Given the description of an element on the screen output the (x, y) to click on. 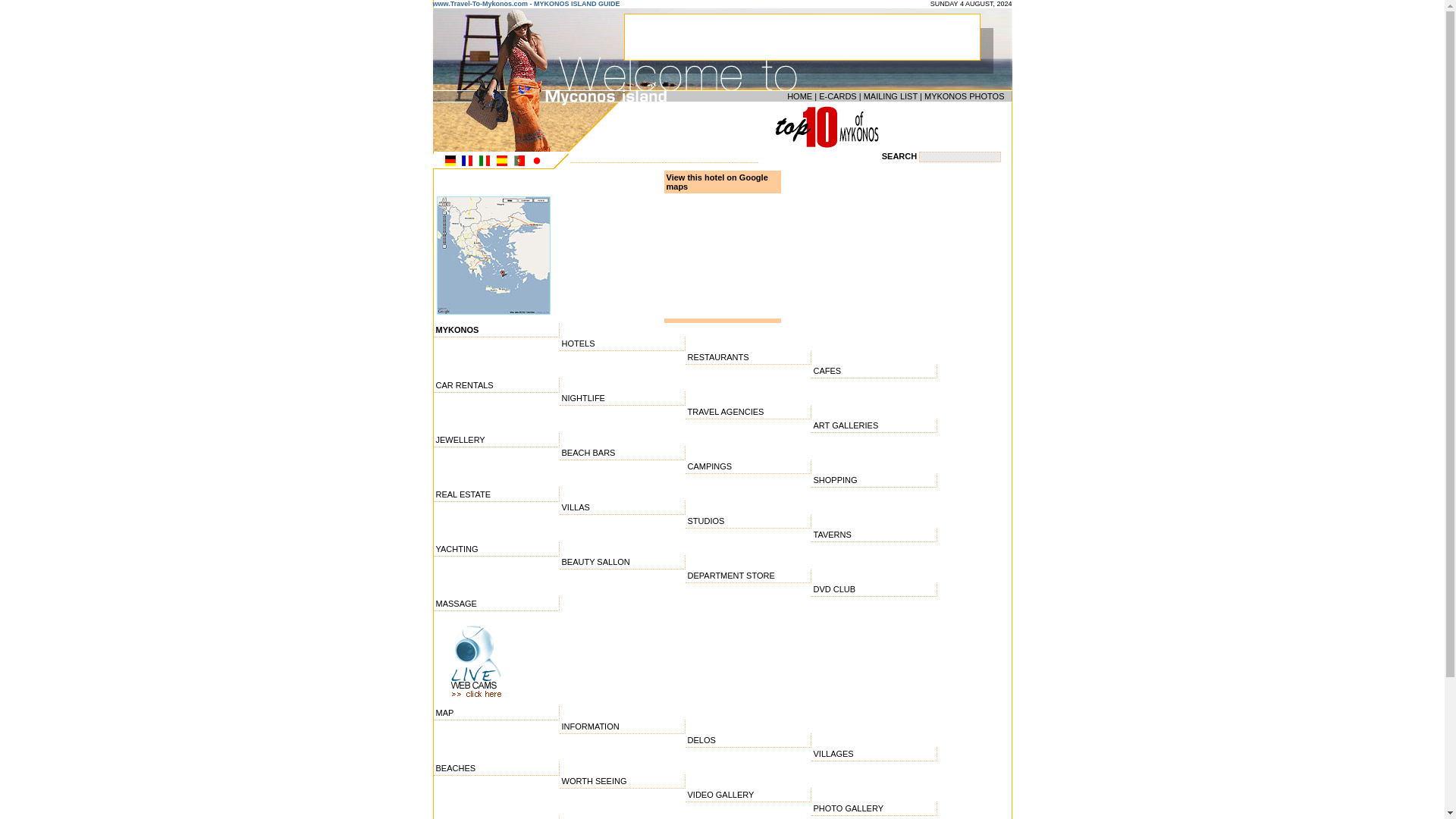
INFORMATION (622, 726)
HOTELS (622, 343)
DVD CLUB (873, 589)
VILLAS (622, 507)
ART GALLERIES (873, 425)
MAP (496, 712)
STUDIOS (747, 521)
VIDEO GALLERY (747, 794)
BEAUTY SALLON (622, 562)
CAFES (873, 370)
RESTAURANTS (747, 357)
HOME (799, 95)
NIGHTLIFE (622, 398)
CAMPINGS (747, 466)
E-CARDS (837, 95)
